Given the description of an element on the screen output the (x, y) to click on. 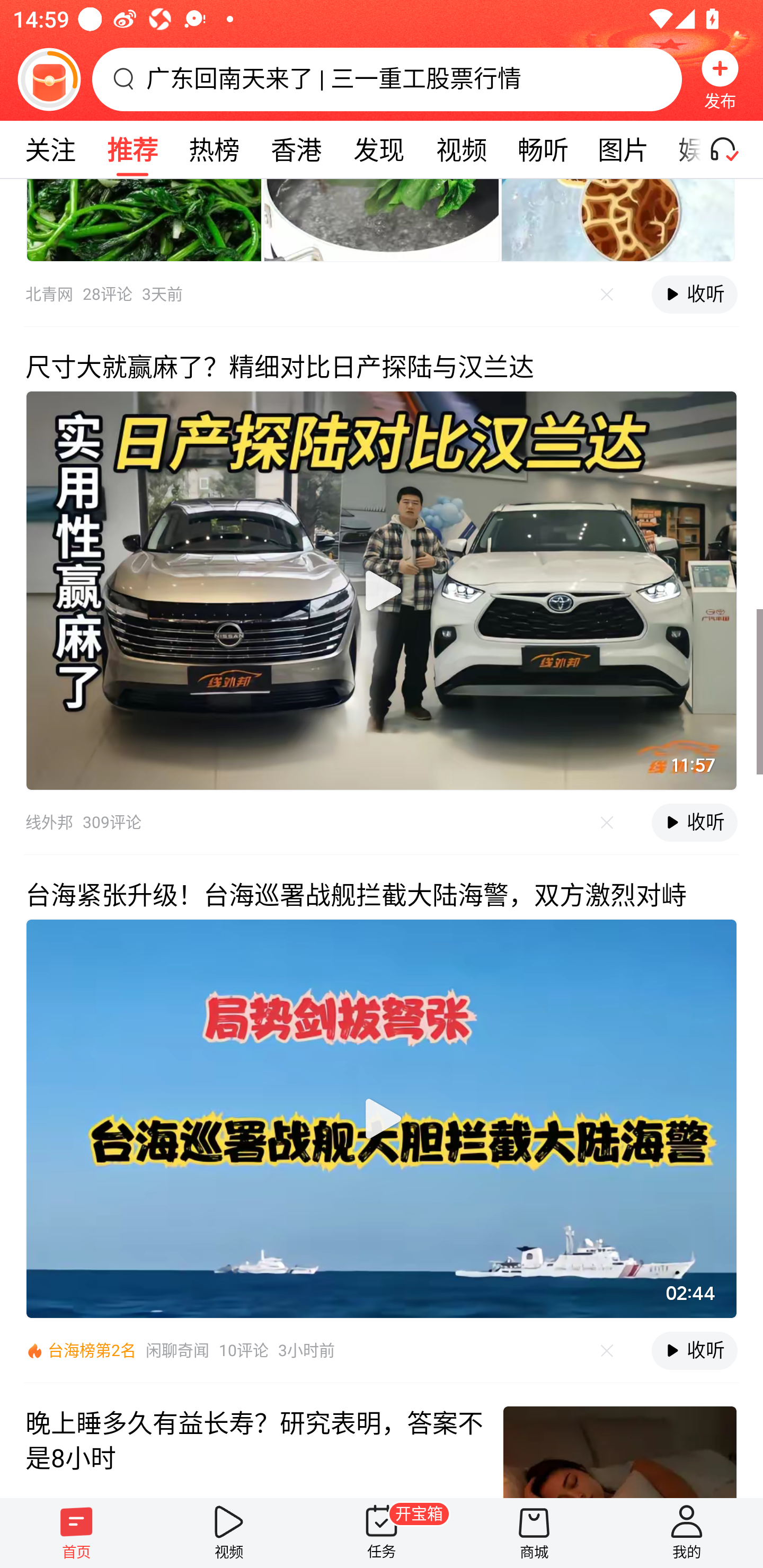
阅读赚金币 (48, 79)
广东回南天来了 | 三一重工股票行情 搜索框，广东回南天来了 | 三一重工股票行情 (387, 79)
发布 发布，按钮 (720, 78)
关注 (50, 149)
推荐 (132, 149)
热榜 (213, 149)
香港 (295, 149)
发现 (378, 149)
视频 (461, 149)
畅听 (542, 149)
图片 (623, 149)
听一听开关 (732, 149)
收听 (694, 294)
不感兴趣 (607, 294)
播放视频 视频播放器，双击屏幕打开播放控制 (381, 590)
播放视频 (381, 589)
收听 (694, 822)
不感兴趣 (607, 822)
播放视频 视频播放器，双击屏幕打开播放控制 (381, 1118)
播放视频 (381, 1118)
收听 (694, 1350)
不感兴趣 (607, 1350)
首页 (76, 1532)
视频 (228, 1532)
任务 开宝箱 (381, 1532)
商城 (533, 1532)
我的 (686, 1532)
